Given the description of an element on the screen output the (x, y) to click on. 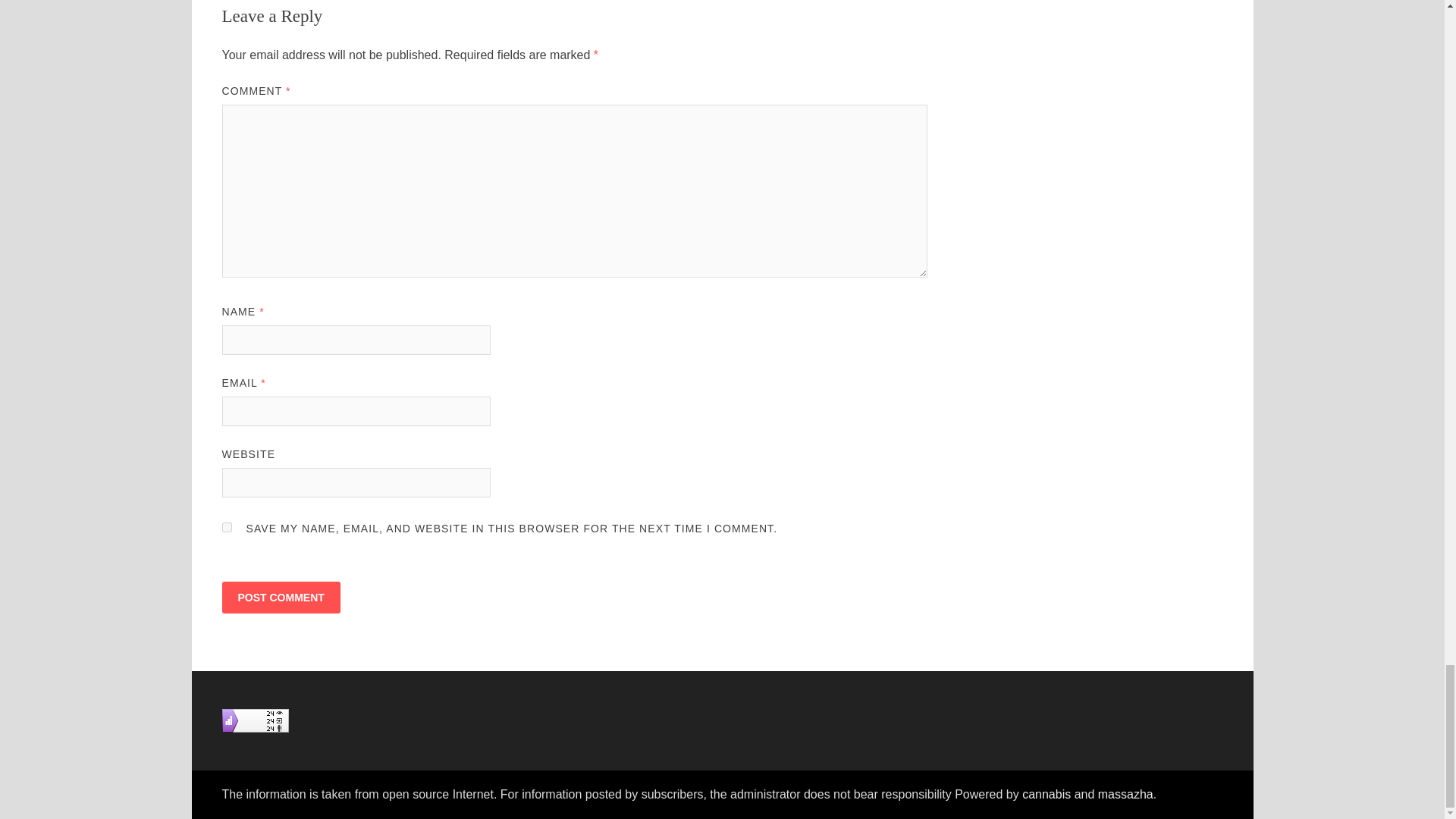
Post Comment (280, 597)
yes (226, 527)
